Given the description of an element on the screen output the (x, y) to click on. 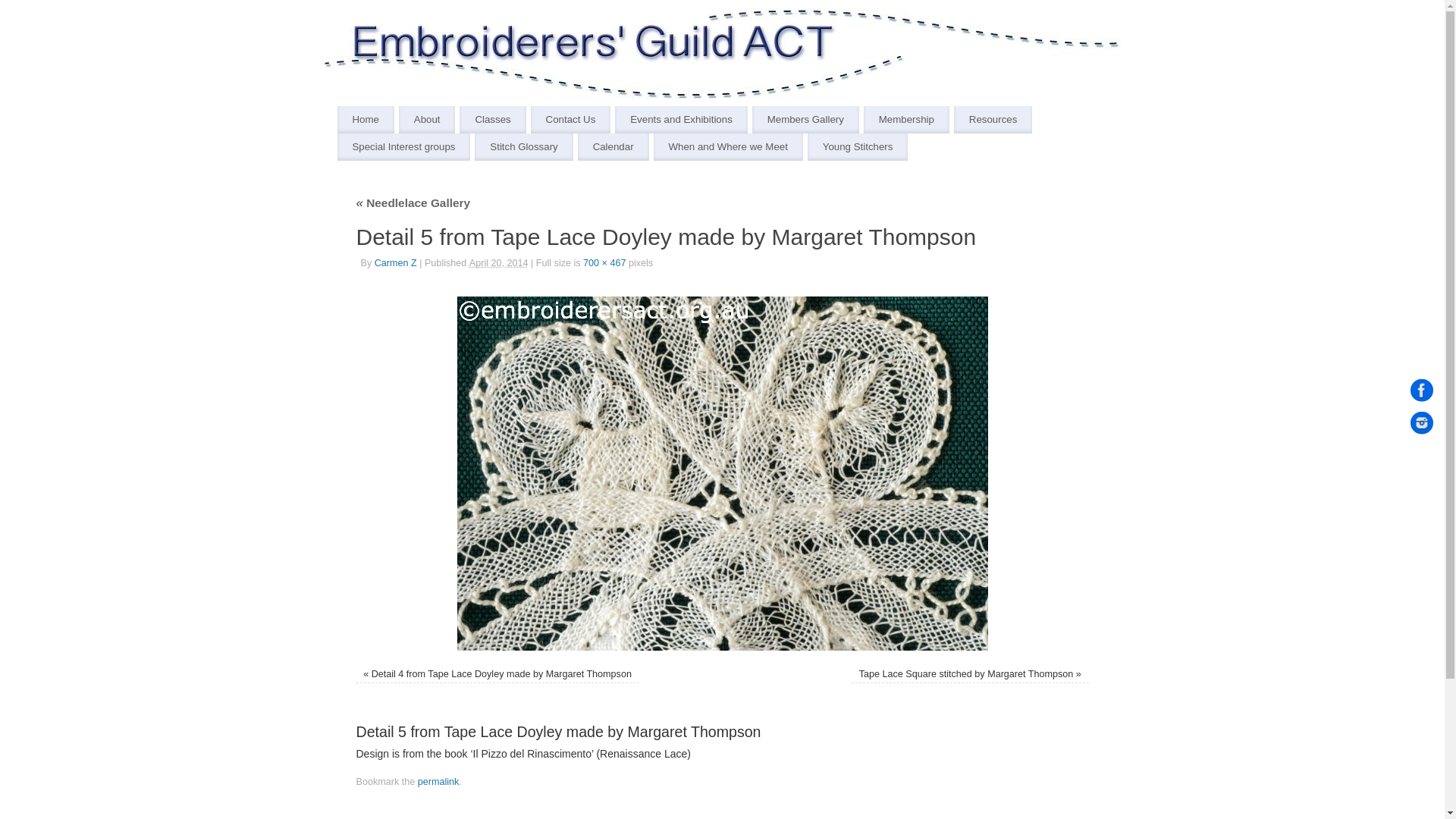
Young Stitchers Element type: text (857, 146)
Detail 5 from Tape Lace Doyley made by Margaret Thompson Element type: hover (722, 473)
When and Where we Meet Element type: text (728, 146)
Contact Us Element type: text (570, 119)
Home Element type: text (364, 119)
permalink Element type: text (438, 781)
Detail 4 from Tape Lace Doyley made by Margaret Thompson Element type: text (501, 673)
Calendar Element type: text (613, 146)
Tape Lace Square stitched by Margaret Thompson Element type: text (966, 673)
Instagram Element type: hover (1421, 425)
Members Gallery Element type: text (805, 119)
Events and Exhibitions Element type: text (680, 119)
Classes Element type: text (492, 119)
Membership Element type: text (906, 119)
Resources Element type: text (992, 119)
Carmen Z Element type: text (395, 262)
Special Interest groups Element type: text (403, 146)
Facebook Element type: hover (1421, 393)
About Element type: text (426, 119)
Stitch Glossary Element type: text (523, 146)
